Given the description of an element on the screen output the (x, y) to click on. 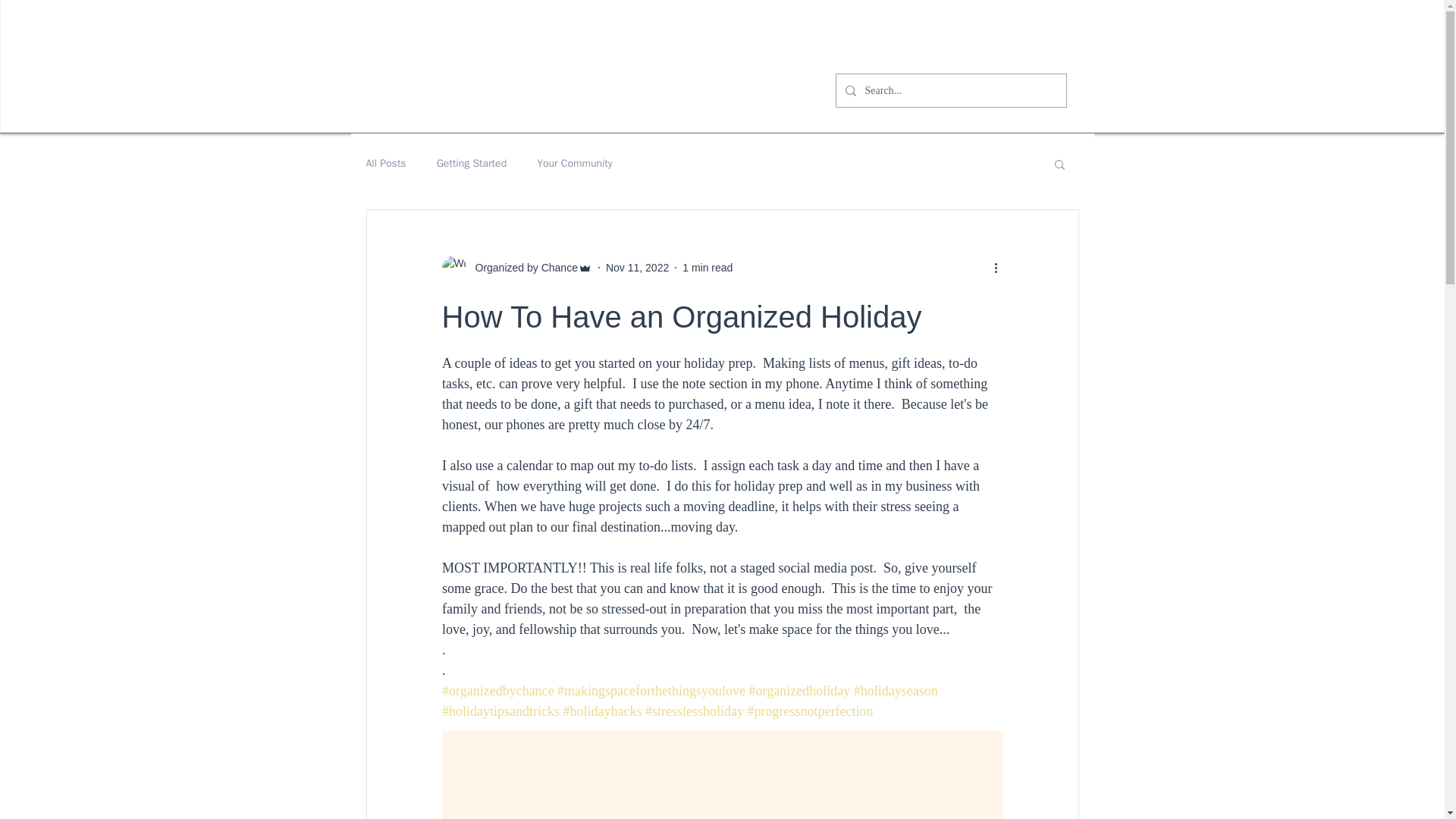
Projects (660, 41)
Getting Started (471, 163)
1 min read (707, 266)
Home (456, 41)
All Posts (385, 163)
Organized by Chance (516, 267)
Testimonials (745, 41)
Services and Pricing (555, 41)
Nov 11, 2022 (636, 266)
Your Community (574, 163)
Log In (1021, 44)
Organized by Chance (520, 267)
